Given the description of an element on the screen output the (x, y) to click on. 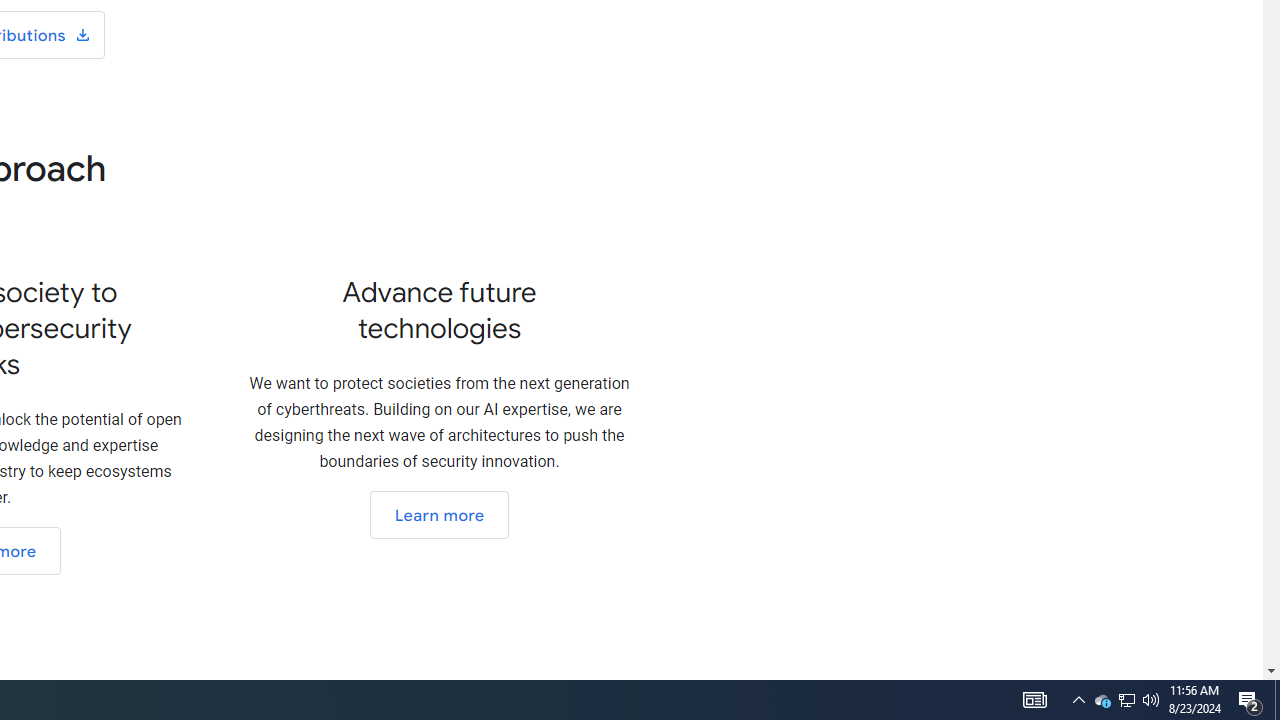
Go to our cybersecurity section (438, 515)
